Given the description of an element on the screen output the (x, y) to click on. 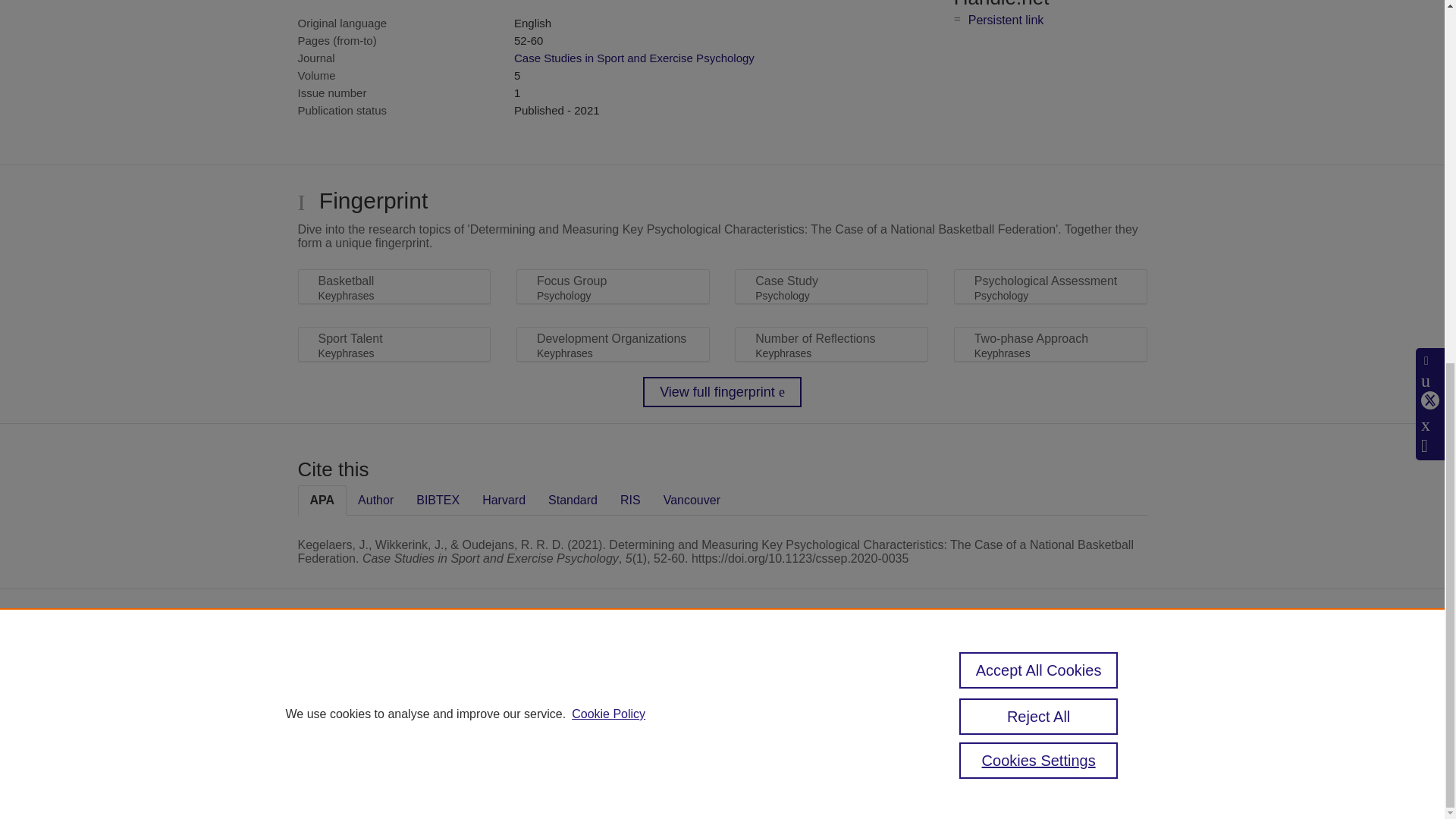
View full fingerprint (722, 391)
Pure (620, 664)
Persistent link (1005, 19)
Case Studies in Sport and Exercise Psychology (633, 57)
